Given the description of an element on the screen output the (x, y) to click on. 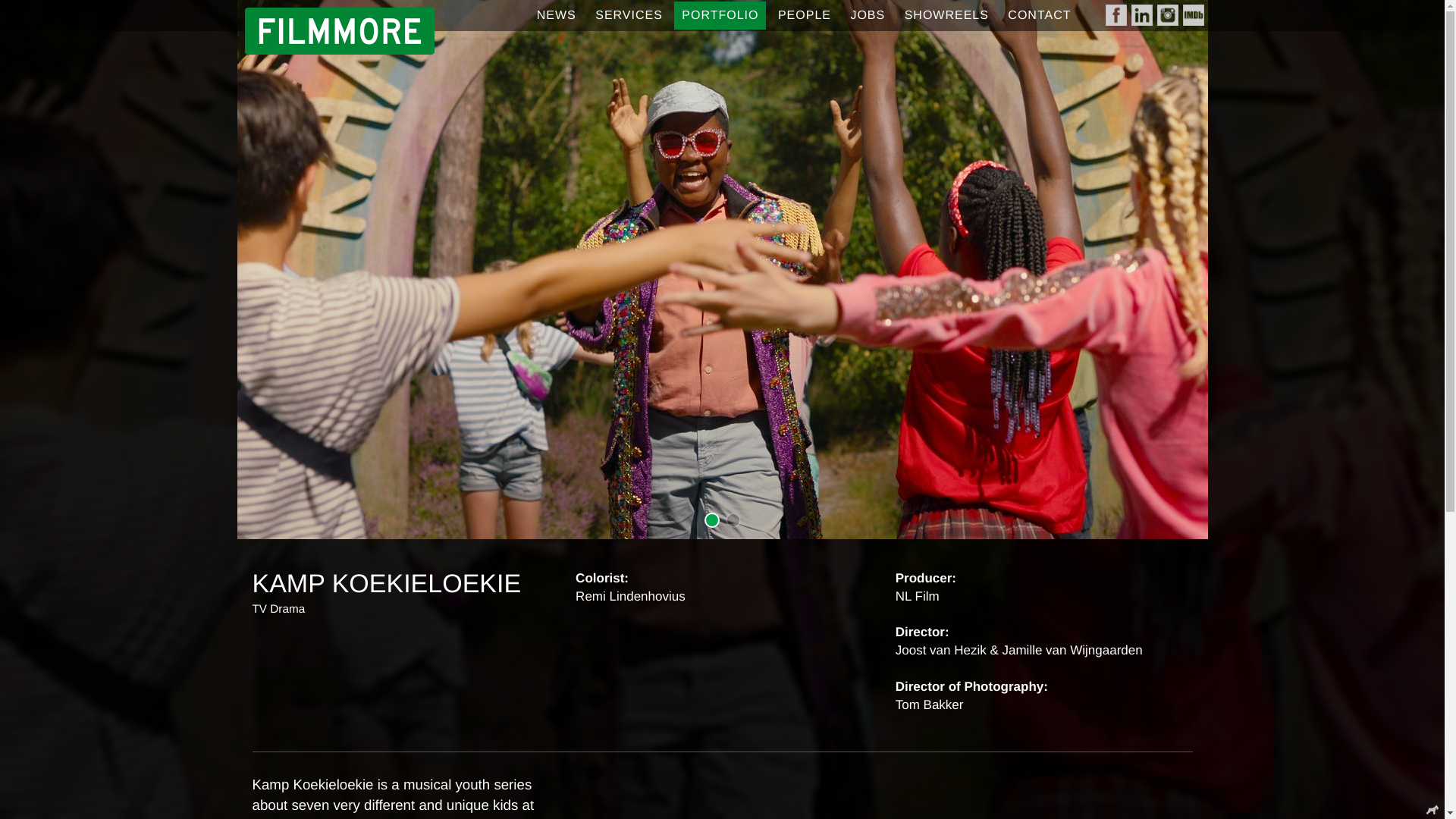
PORTFOLIO (719, 15)
PEOPLE (804, 15)
SERVICES (628, 15)
JOBS (867, 15)
CONTACT (1039, 15)
NEWS (556, 15)
SHOWREELS (945, 15)
